Given the description of an element on the screen output the (x, y) to click on. 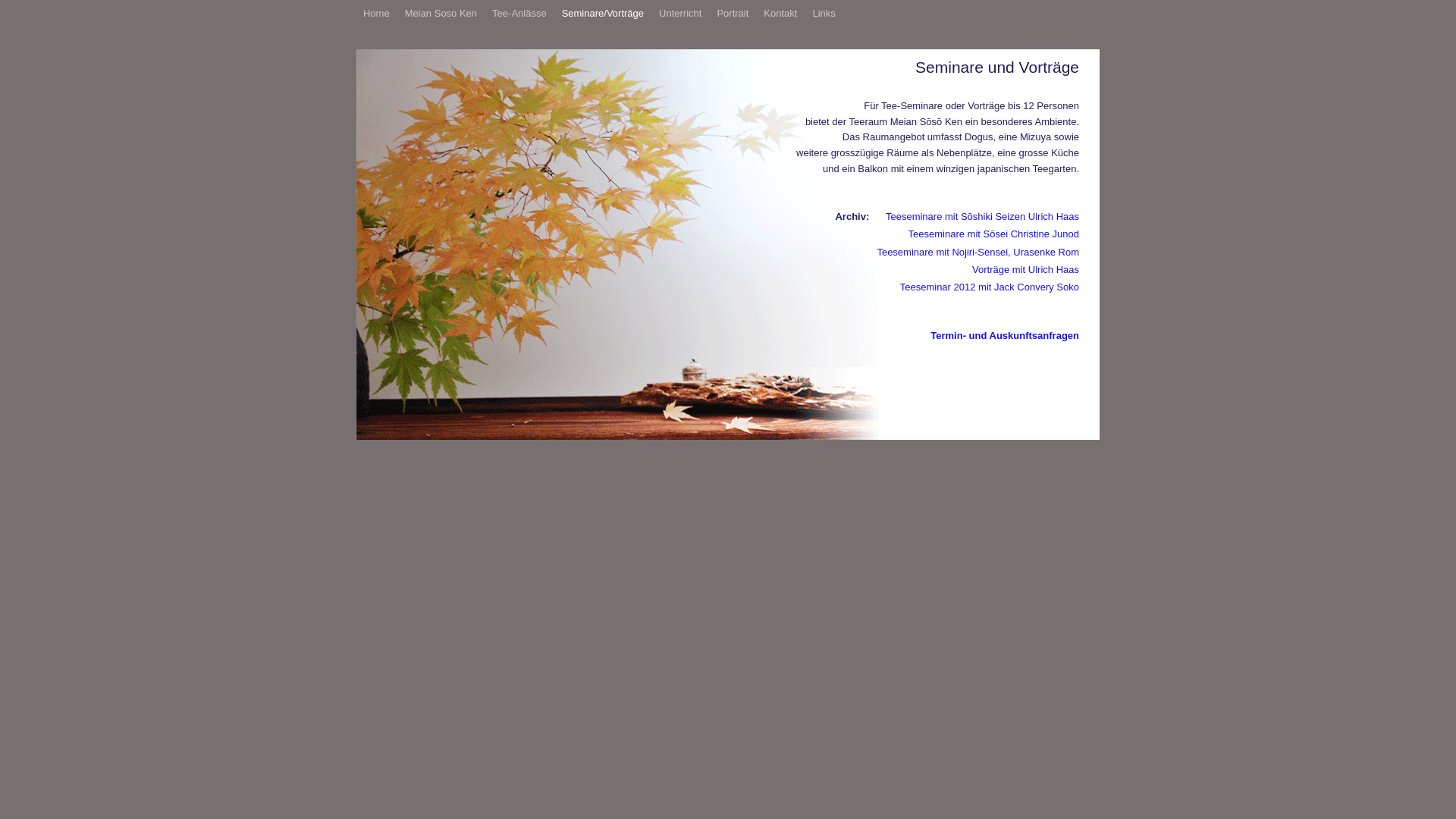
Unterricht Element type: text (679, 12)
Portrait Element type: text (732, 12)
Kontakt Element type: text (780, 12)
Home Element type: text (376, 12)
Teeseminare mit Nojiri-Sensei, Urasenke Rom Element type: text (977, 251)
Teeseminar 2012 mit Jack Convery Soko Element type: text (989, 286)
Links Element type: text (823, 12)
Meian Soso Ken Element type: text (440, 12)
Termin- und Auskunftsanfragen Element type: text (1004, 335)
